Given the description of an element on the screen output the (x, y) to click on. 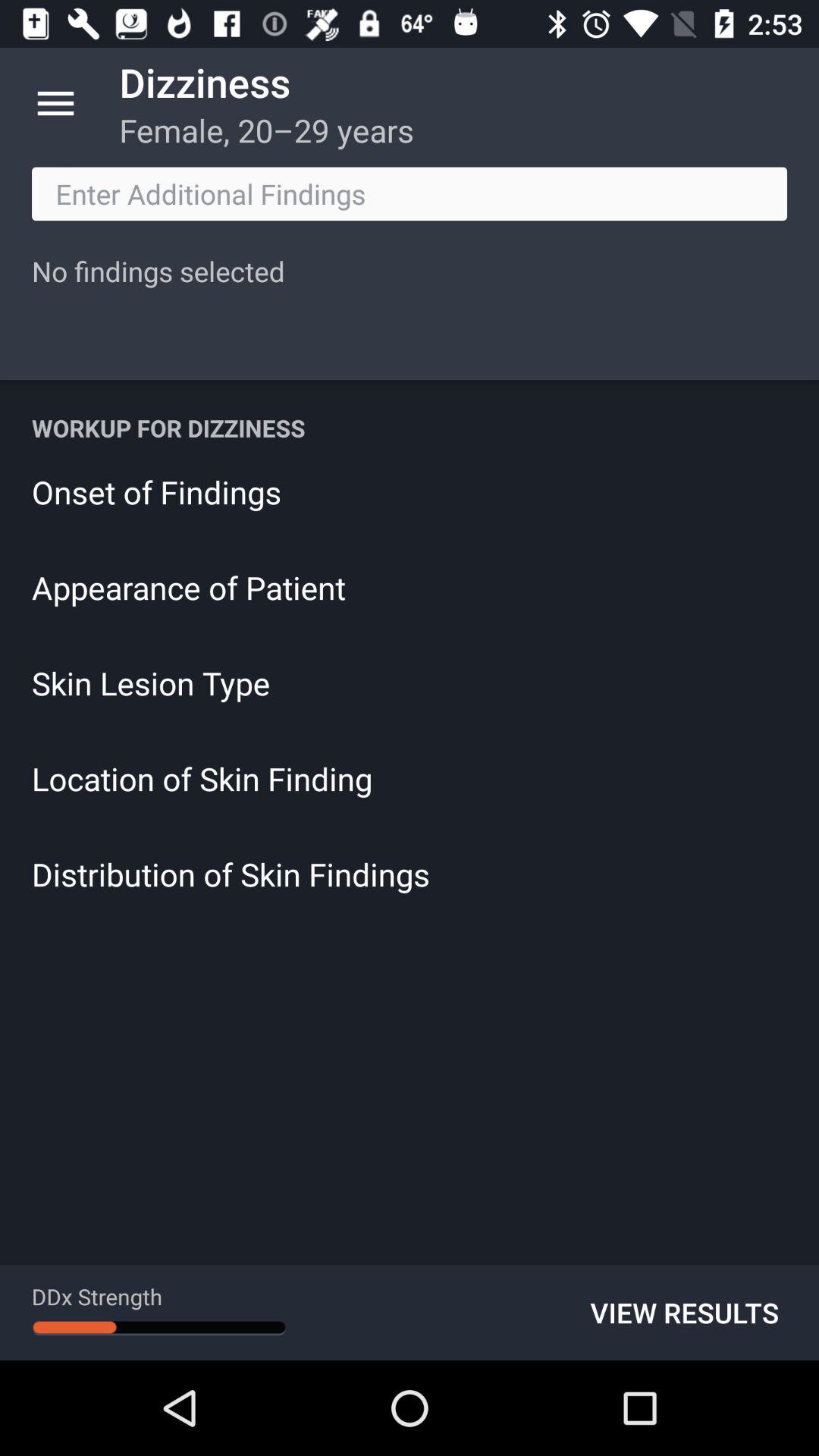
turn off the icon above the onset of findings (409, 427)
